Given the description of an element on the screen output the (x, y) to click on. 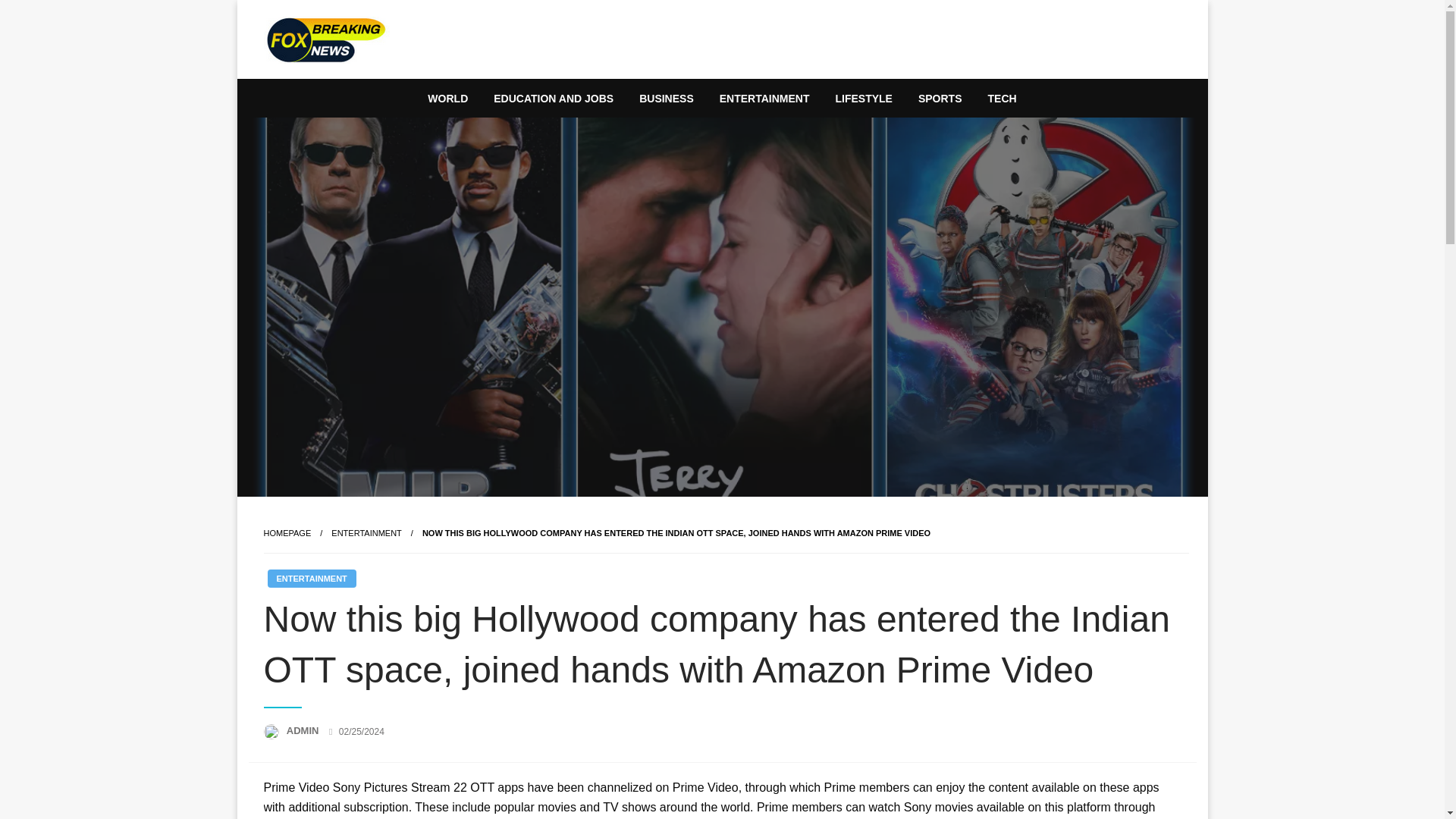
Entertainment (366, 532)
BUSINESS (666, 98)
EDUCATION AND JOBS (553, 98)
ADMIN (303, 730)
SPORTS (940, 98)
HOMEPAGE (287, 532)
ADMIN (303, 730)
LIFESTYLE (863, 98)
WORLD (447, 98)
